Given the description of an element on the screen output the (x, y) to click on. 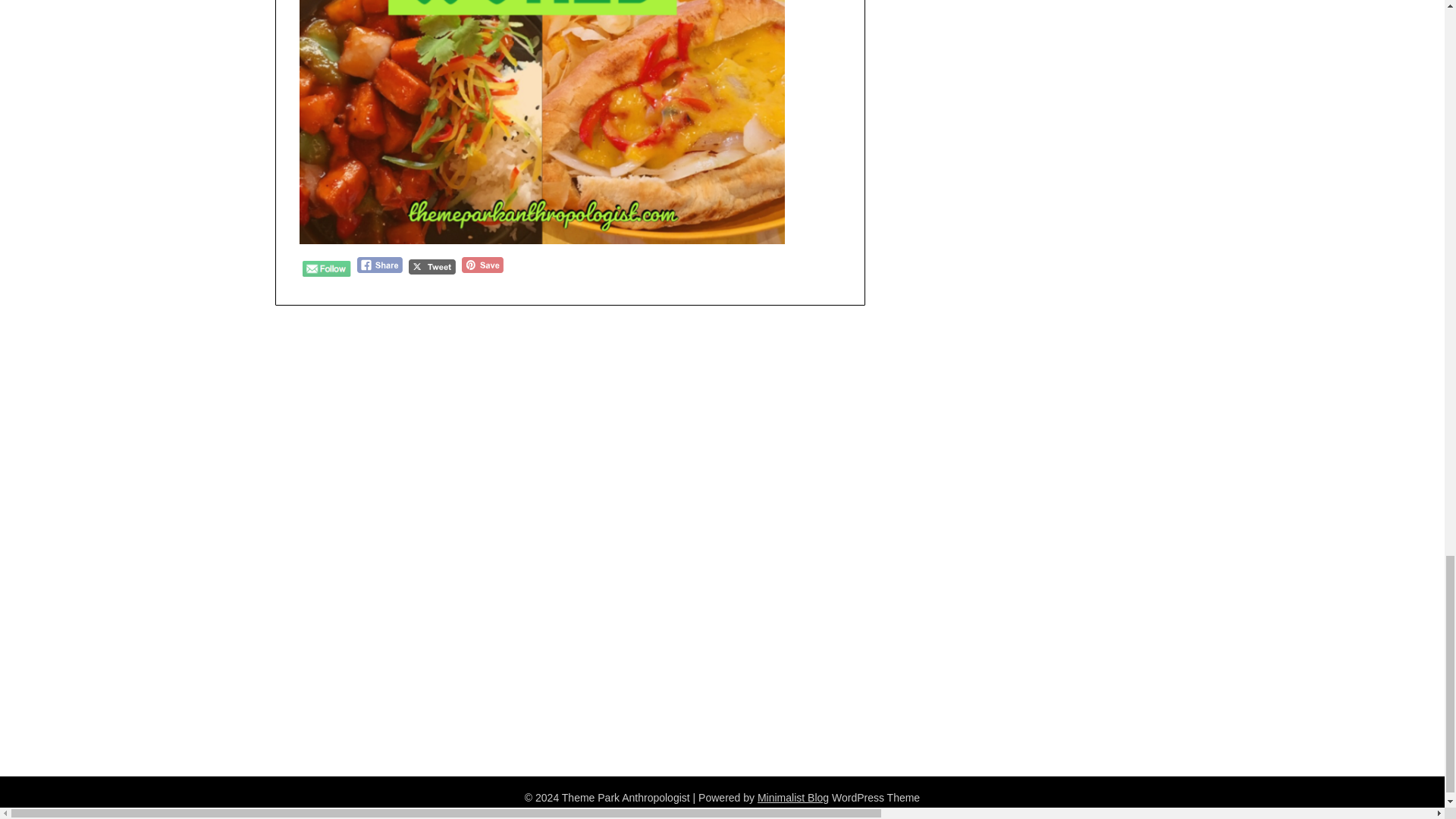
Tweet (432, 267)
Minimalist Blog (792, 797)
Facebook Share (379, 264)
Pin Share (482, 264)
